Given the description of an element on the screen output the (x, y) to click on. 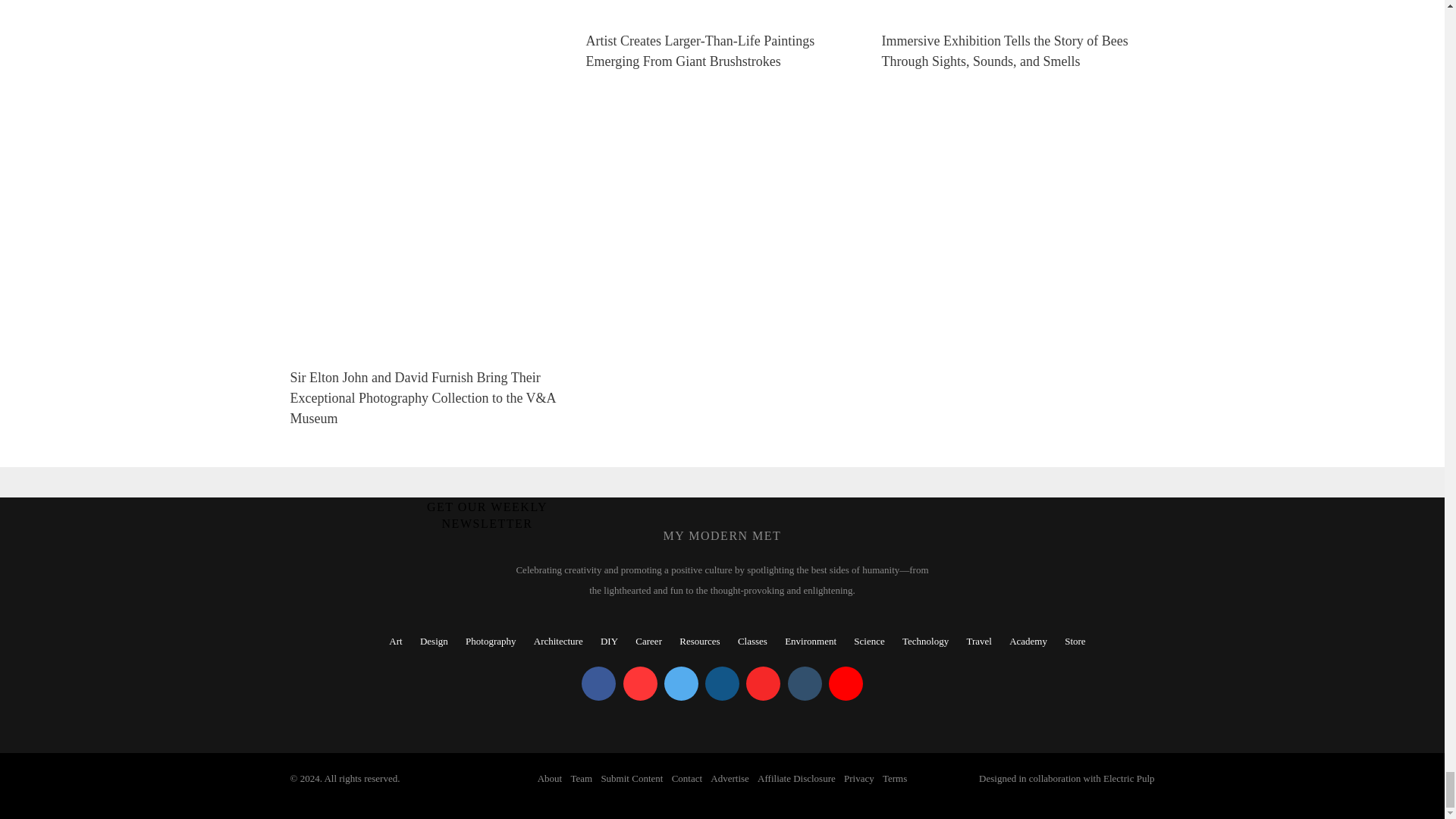
My Modern Met on Pinterest (640, 683)
My Modern Met on Facebook (597, 683)
My Modern Met on Instagram (721, 683)
My Modern Met on Twitter (680, 683)
My Modern Met on YouTube (845, 683)
My Modern Met on Tumblr (804, 683)
